Given the description of an element on the screen output the (x, y) to click on. 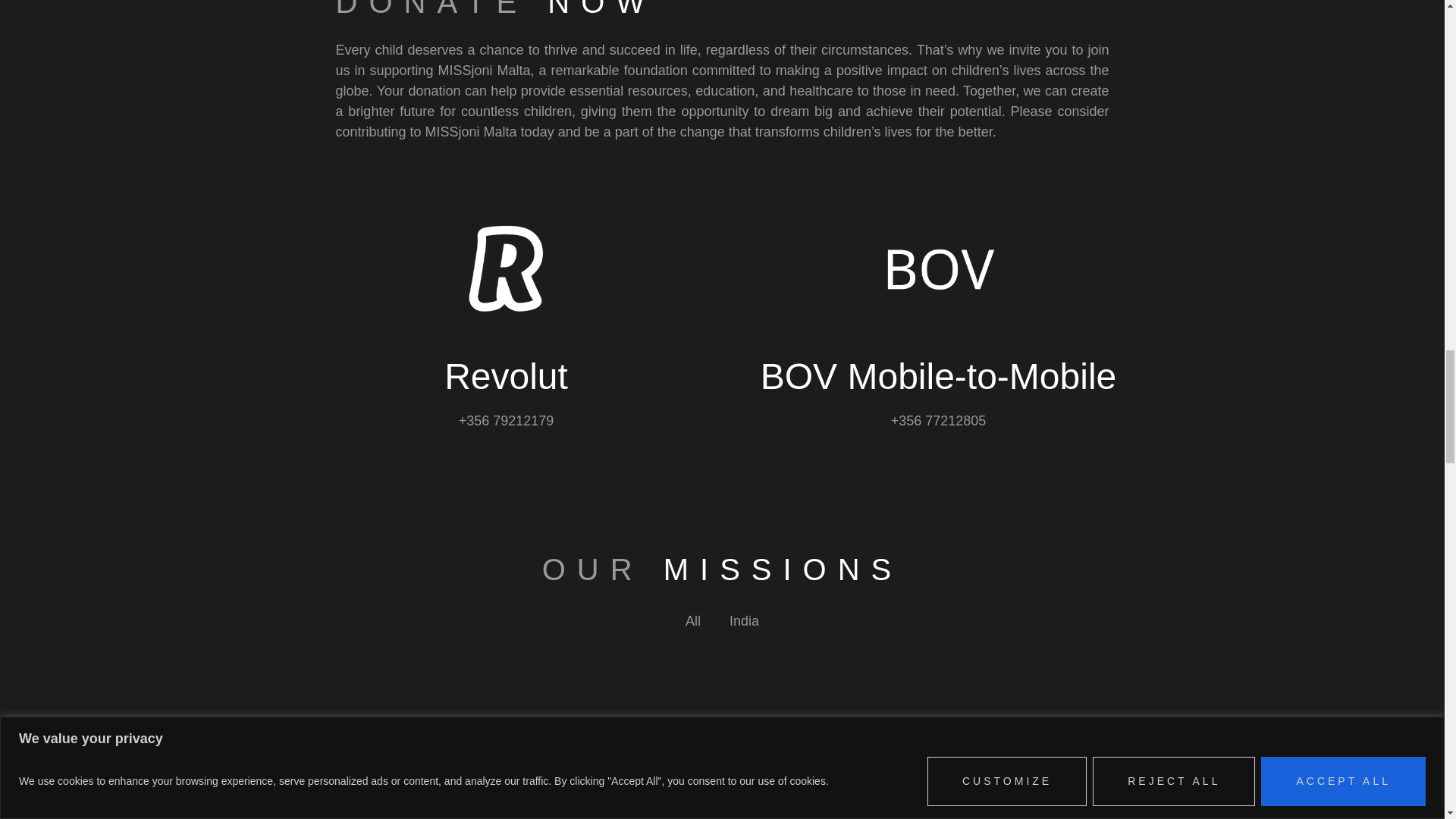
India (744, 621)
All (693, 621)
